Given the description of an element on the screen output the (x, y) to click on. 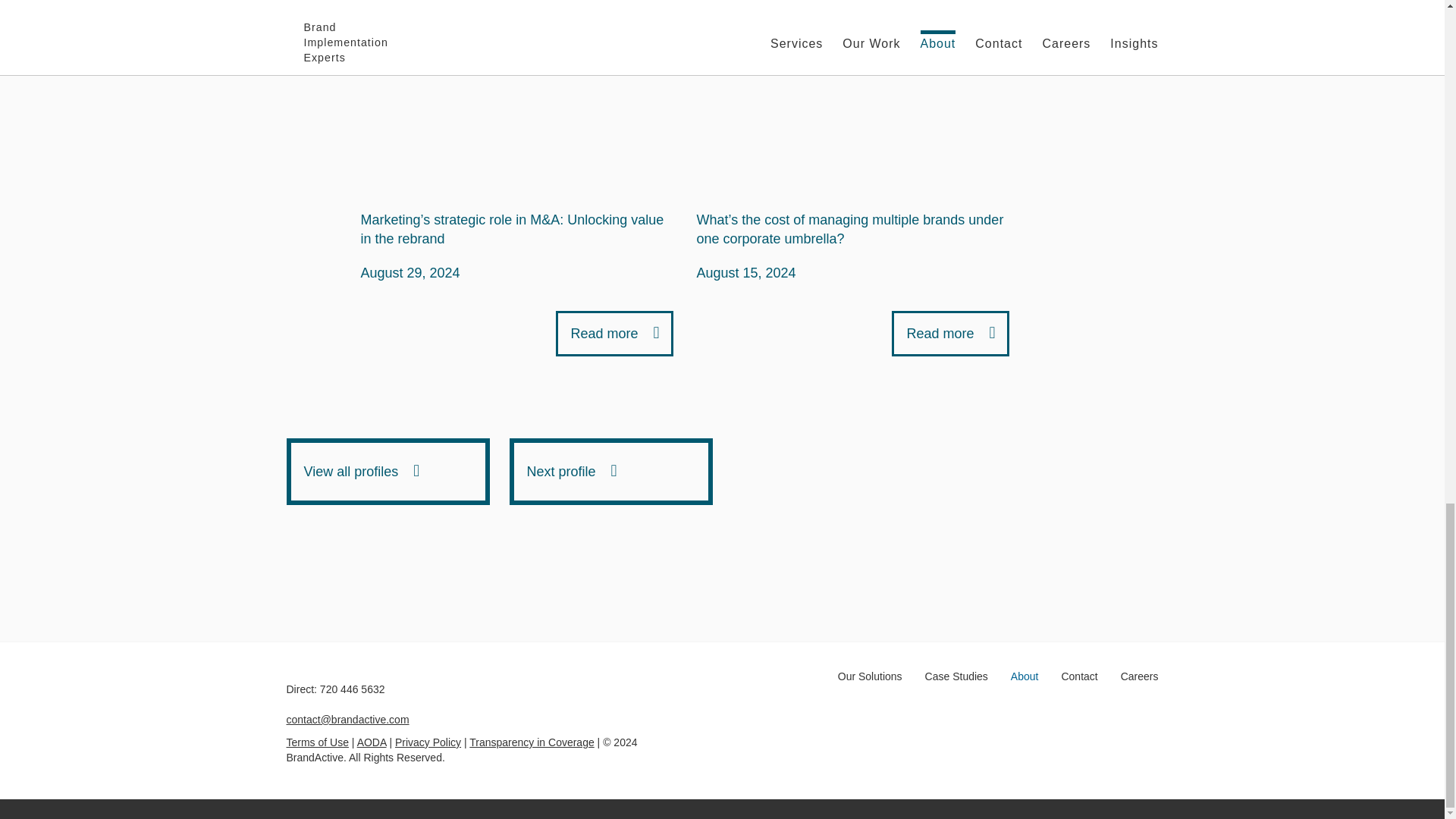
Privacy Policy (427, 742)
AODA (371, 742)
Contact (1079, 676)
Terms of Use (317, 742)
About (1024, 676)
View all profiles (387, 471)
Careers (1139, 676)
Transparency in Coverage (531, 742)
Direct: 720 446 5632 (335, 689)
Read more (614, 333)
